Given the description of an element on the screen output the (x, y) to click on. 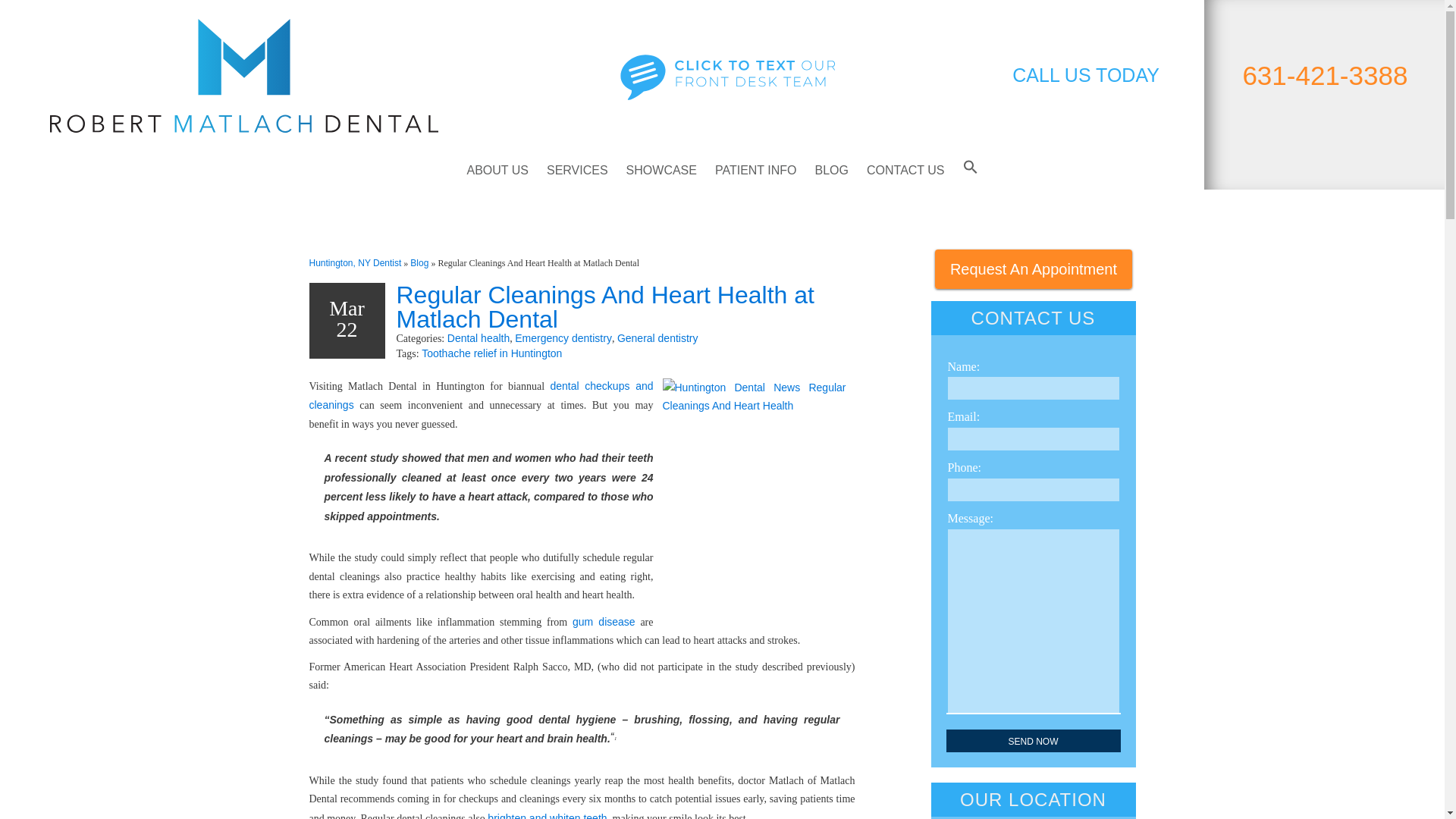
PATIENT INFO (756, 170)
SERVICES (577, 170)
ABOUT US (497, 170)
631-421-3388 (1324, 75)
Robert Matlach Dental (243, 75)
Send Now (1033, 740)
SHOWCASE (661, 170)
